Given the description of an element on the screen output the (x, y) to click on. 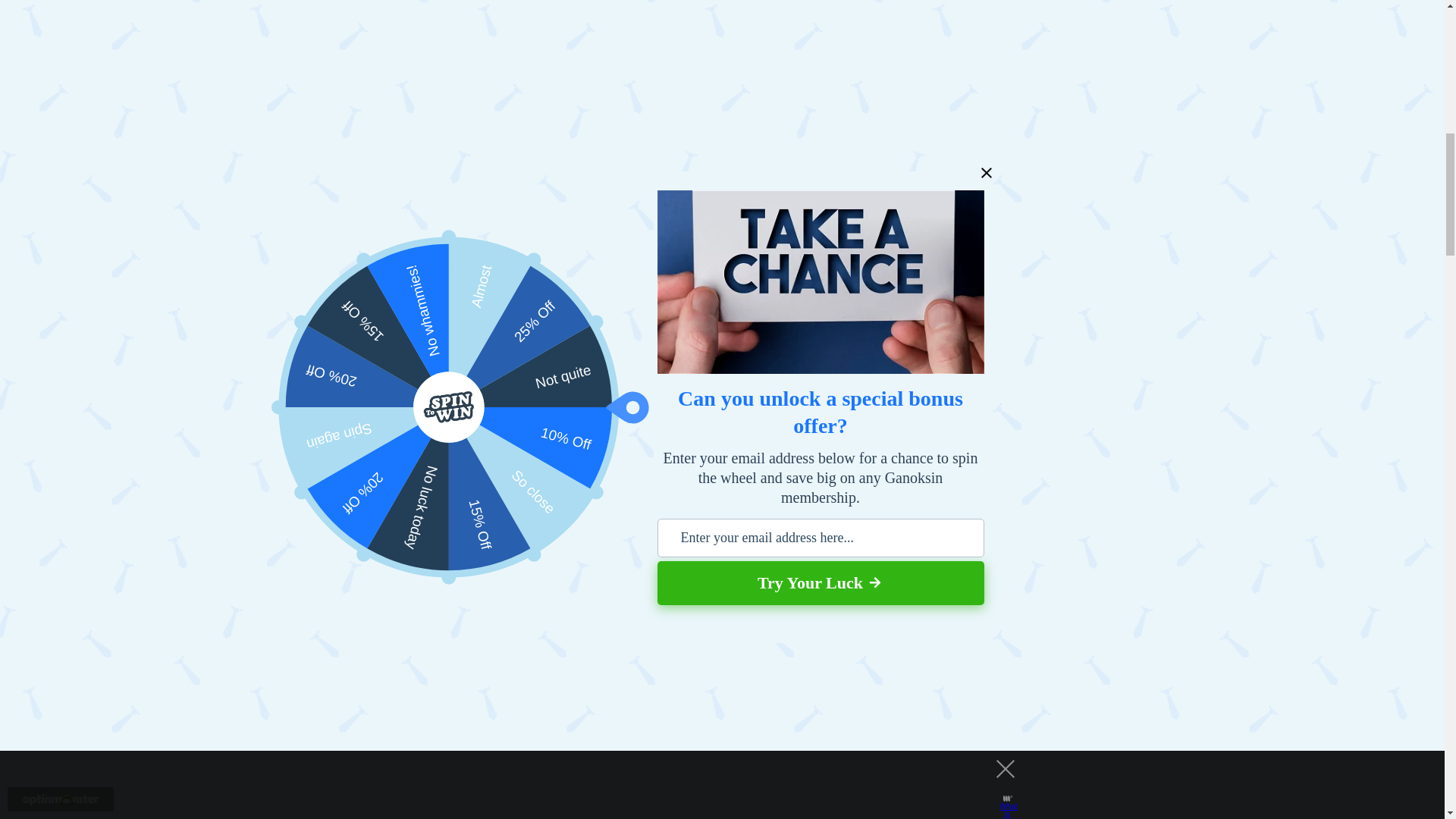
3rd party ad content (555, 370)
